Given the description of an element on the screen output the (x, y) to click on. 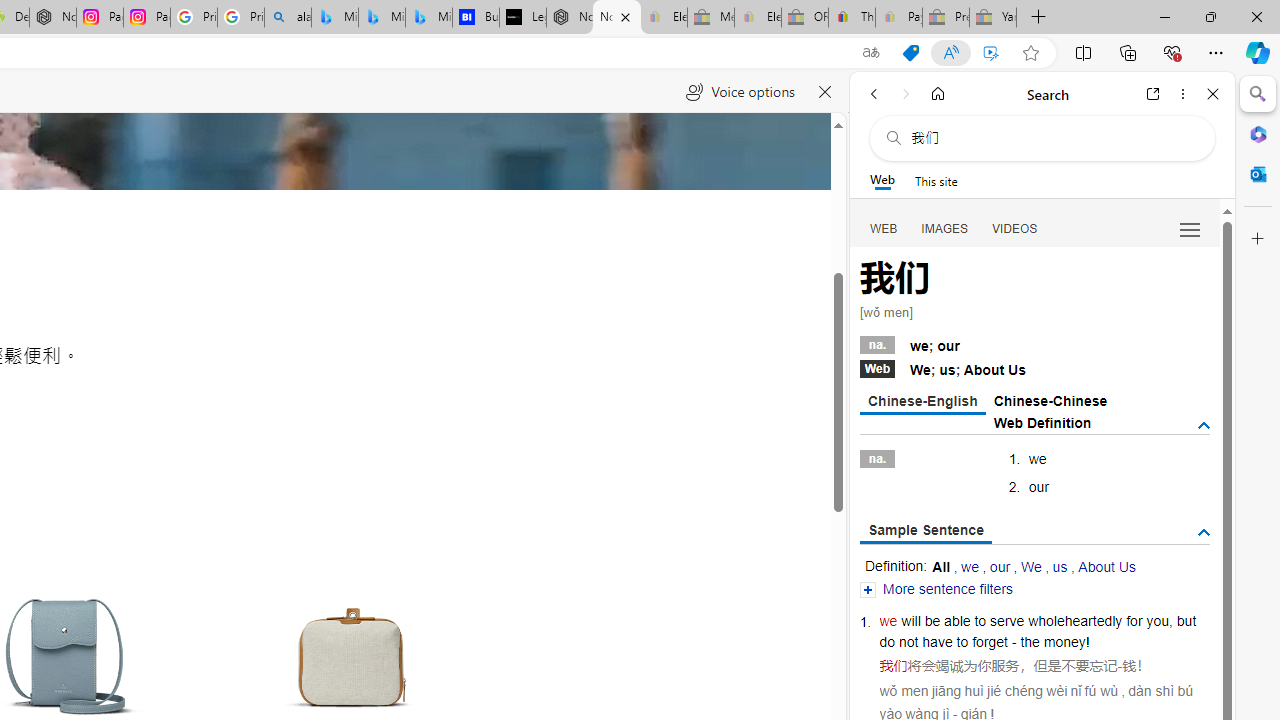
Show translate options (870, 53)
WebWe; us; About Us (1034, 367)
but (1186, 620)
Close read aloud (825, 92)
! (1087, 642)
Chinese-Chinese (1050, 400)
